Given the description of an element on the screen output the (x, y) to click on. 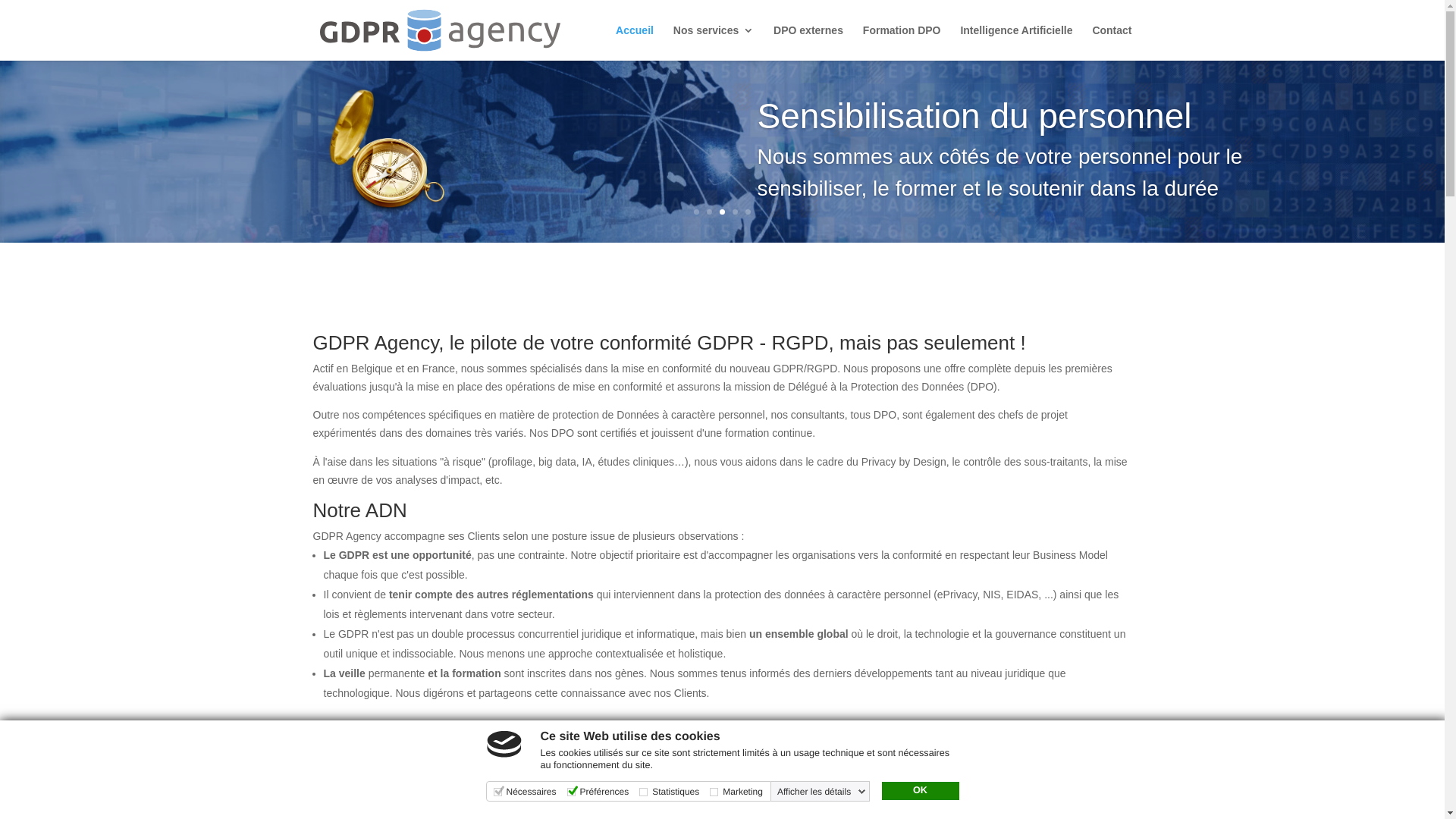
3 Element type: text (721, 211)
1 Element type: text (696, 211)
Contact Element type: text (1111, 42)
5 Element type: text (747, 211)
Formation DPO Element type: text (901, 42)
Intelligence Artificielle Element type: text (1016, 42)
4 Element type: text (734, 211)
DPO externes Element type: text (808, 42)
2 Element type: text (709, 211)
Accueil Element type: text (634, 42)
OK Element type: text (919, 790)
Nos services Element type: text (713, 42)
